Given the description of an element on the screen output the (x, y) to click on. 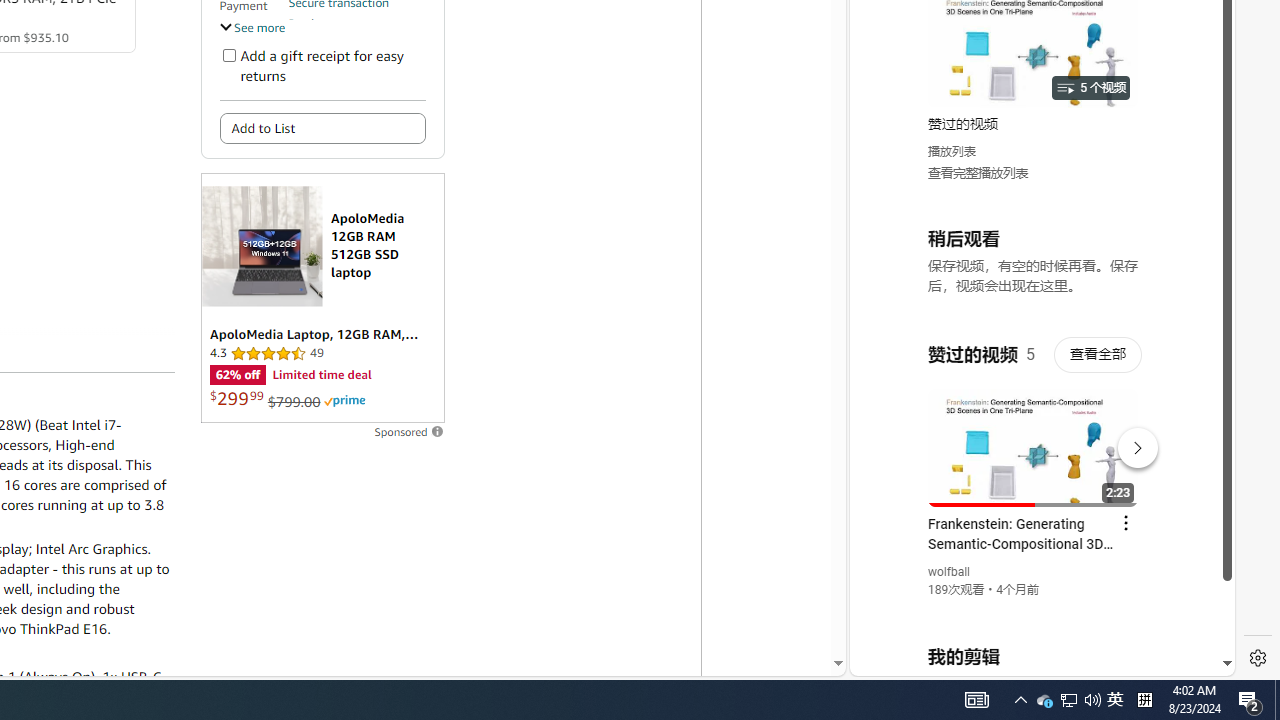
wolfball (949, 572)
Product support included (357, 31)
Add to List (322, 128)
US[ju] (917, 660)
you (1034, 609)
Sponsored ad (322, 297)
